Given the description of an element on the screen output the (x, y) to click on. 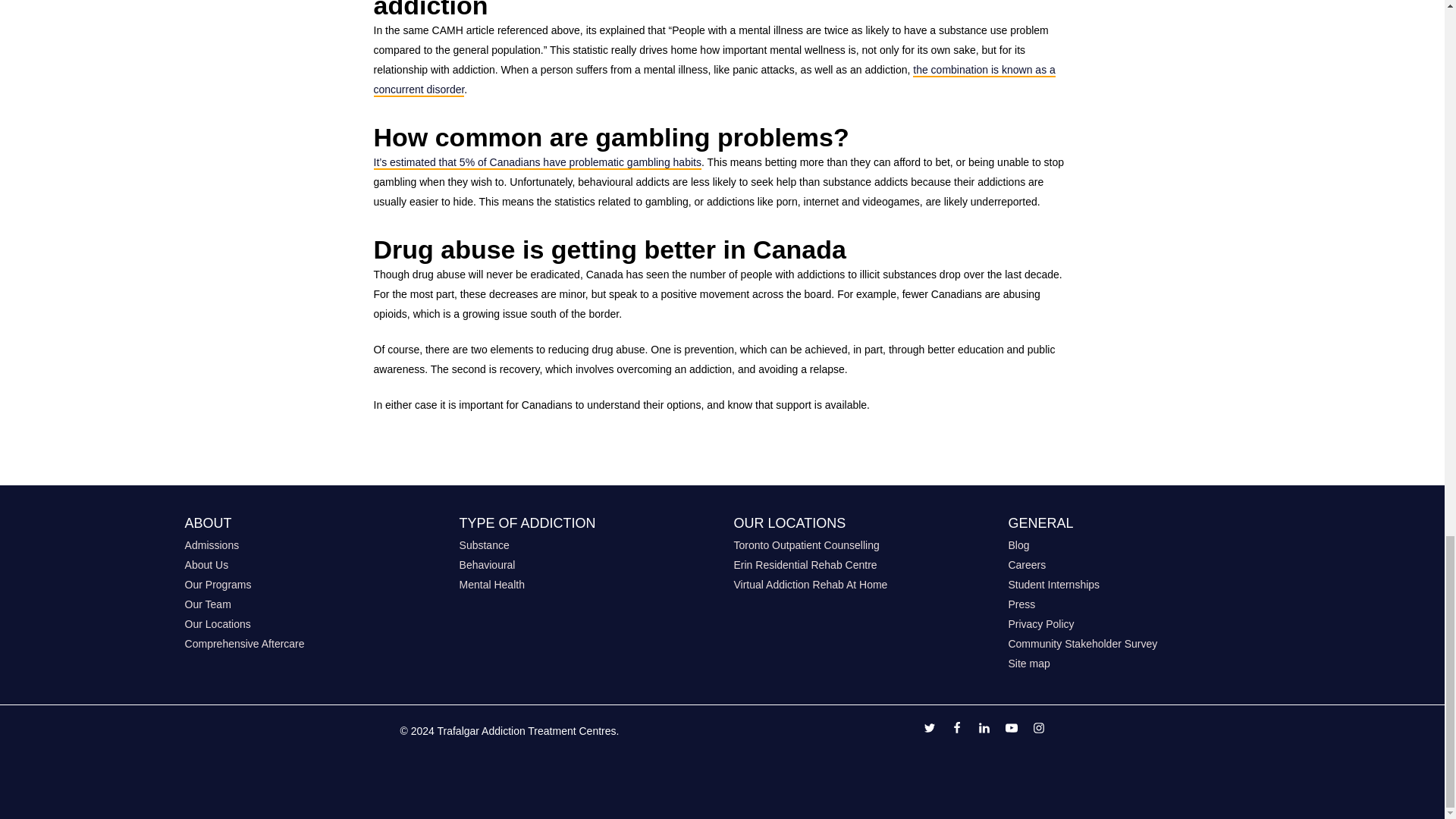
instagram (1038, 729)
linkedin (984, 729)
facebook (956, 729)
twitter (929, 729)
youtube (1011, 729)
